Given the description of an element on the screen output the (x, y) to click on. 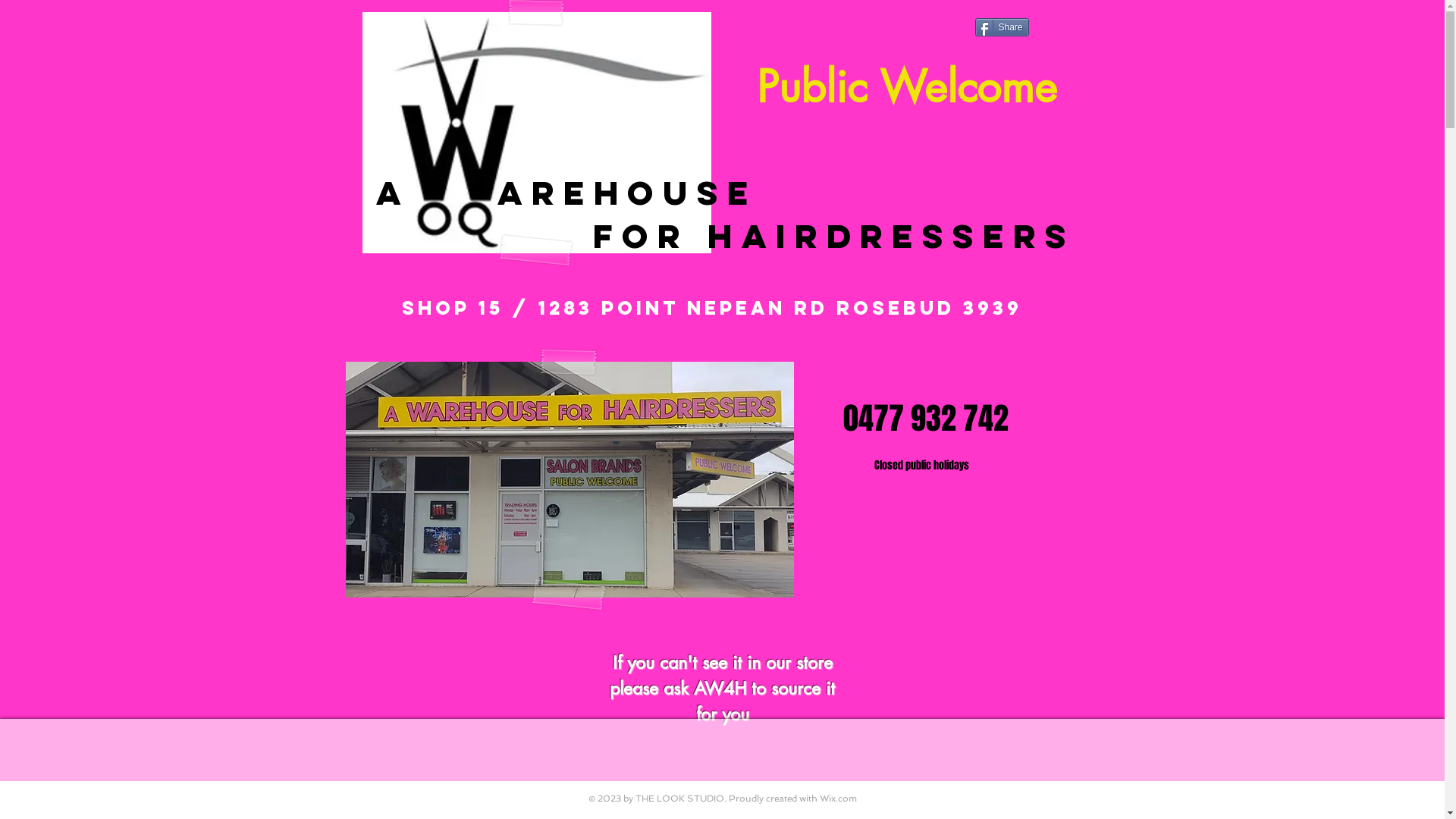
Wix.com Element type: text (837, 798)
Share Element type: text (1002, 27)
AW4H Logo.jpg Element type: hover (536, 132)
